Given the description of an element on the screen output the (x, y) to click on. 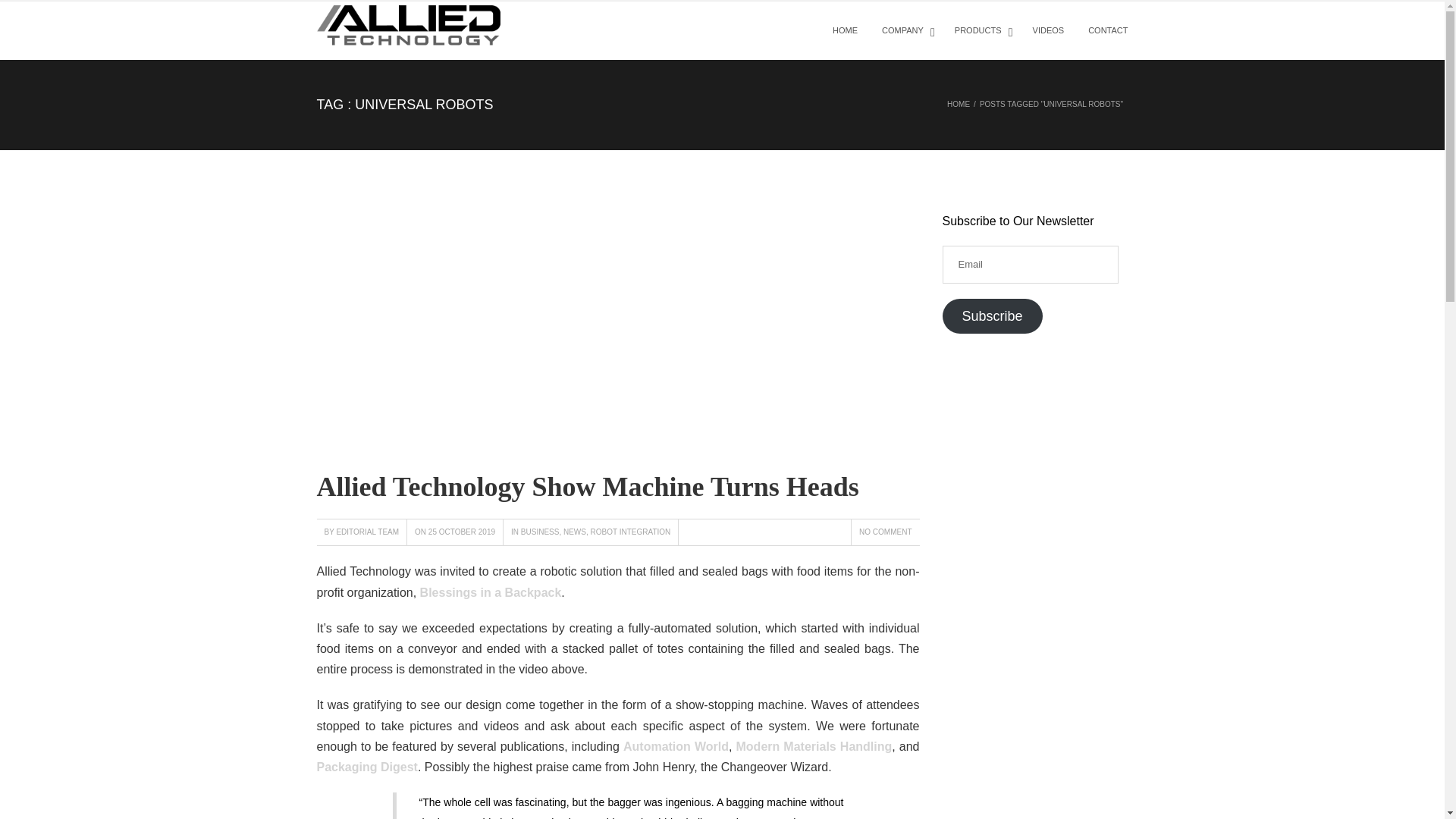
YouTube (766, 634)
PRODUCTS (981, 30)
Twitter (834, 612)
Posts by Editorial Team (367, 531)
Facebook (769, 612)
VIDEOS (1048, 30)
YouTube (767, 634)
twitter (1114, 789)
facebook (1087, 789)
Facebook (769, 612)
